Given the description of an element on the screen output the (x, y) to click on. 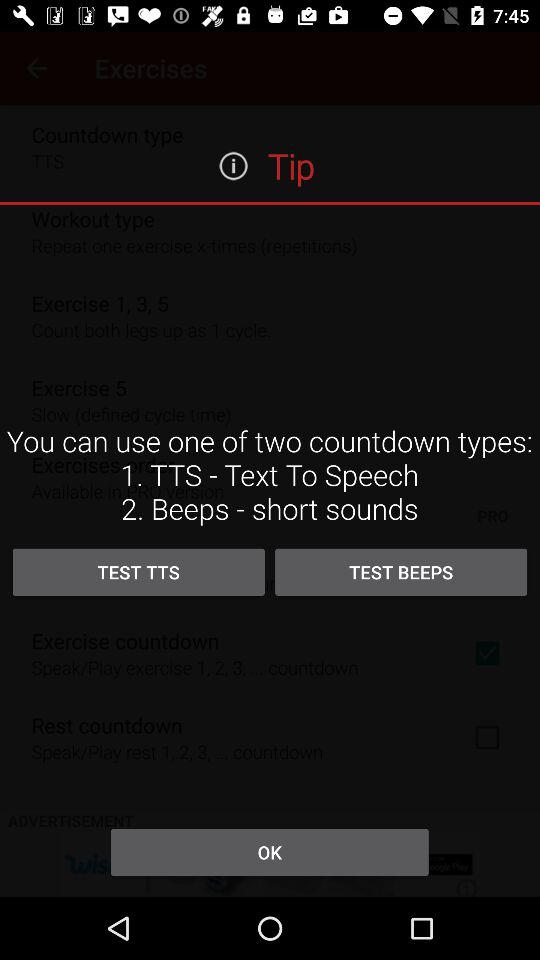
turn on the item above the ok (401, 571)
